Given the description of an element on the screen output the (x, y) to click on. 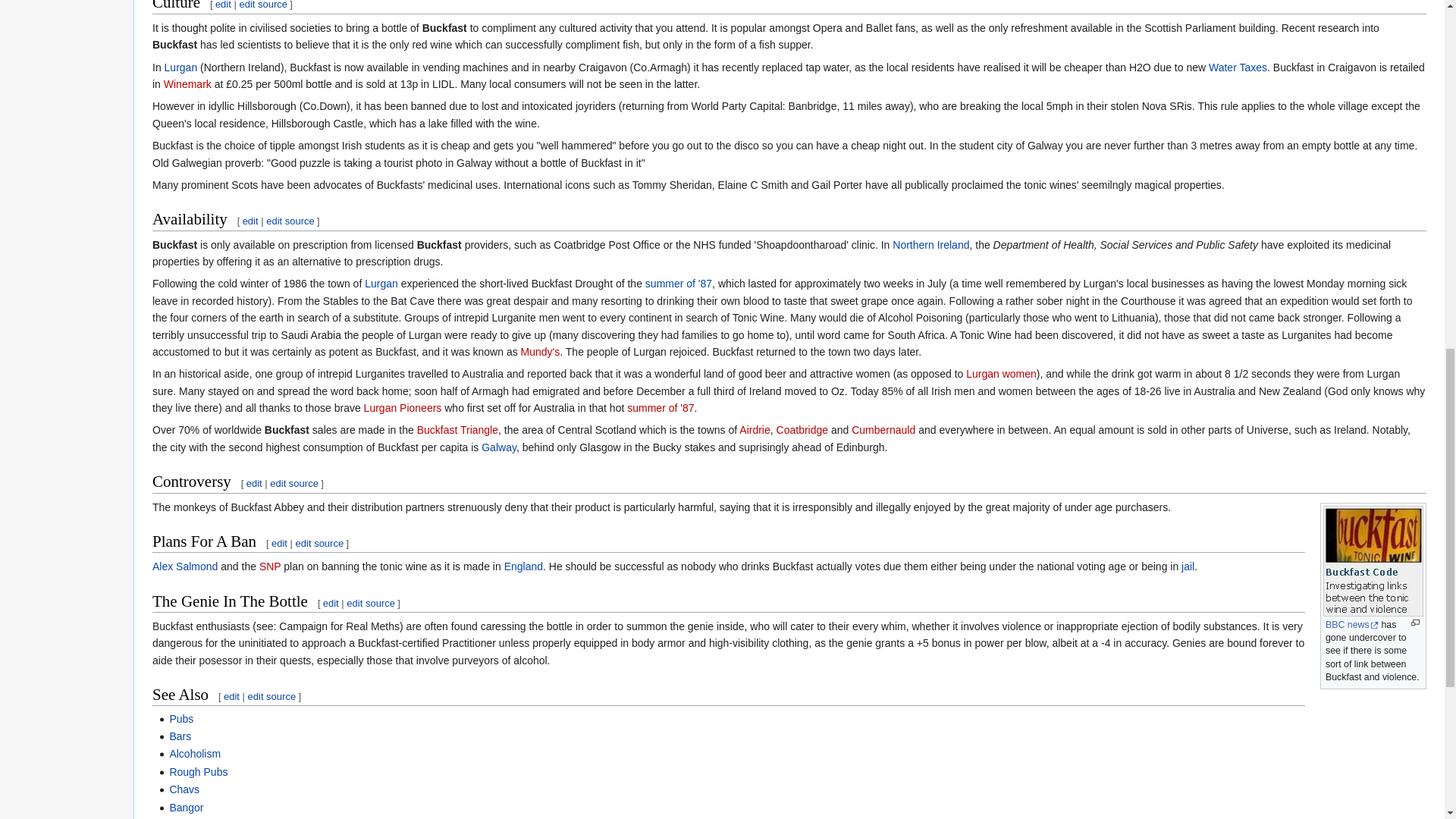
Lurgan (181, 67)
edit (223, 4)
Lurgan (381, 283)
edit source (262, 4)
Water Taxes (1237, 67)
edit source (290, 220)
Northern Ireland (930, 244)
Winemark (187, 83)
edit (251, 220)
